Given the description of an element on the screen output the (x, y) to click on. 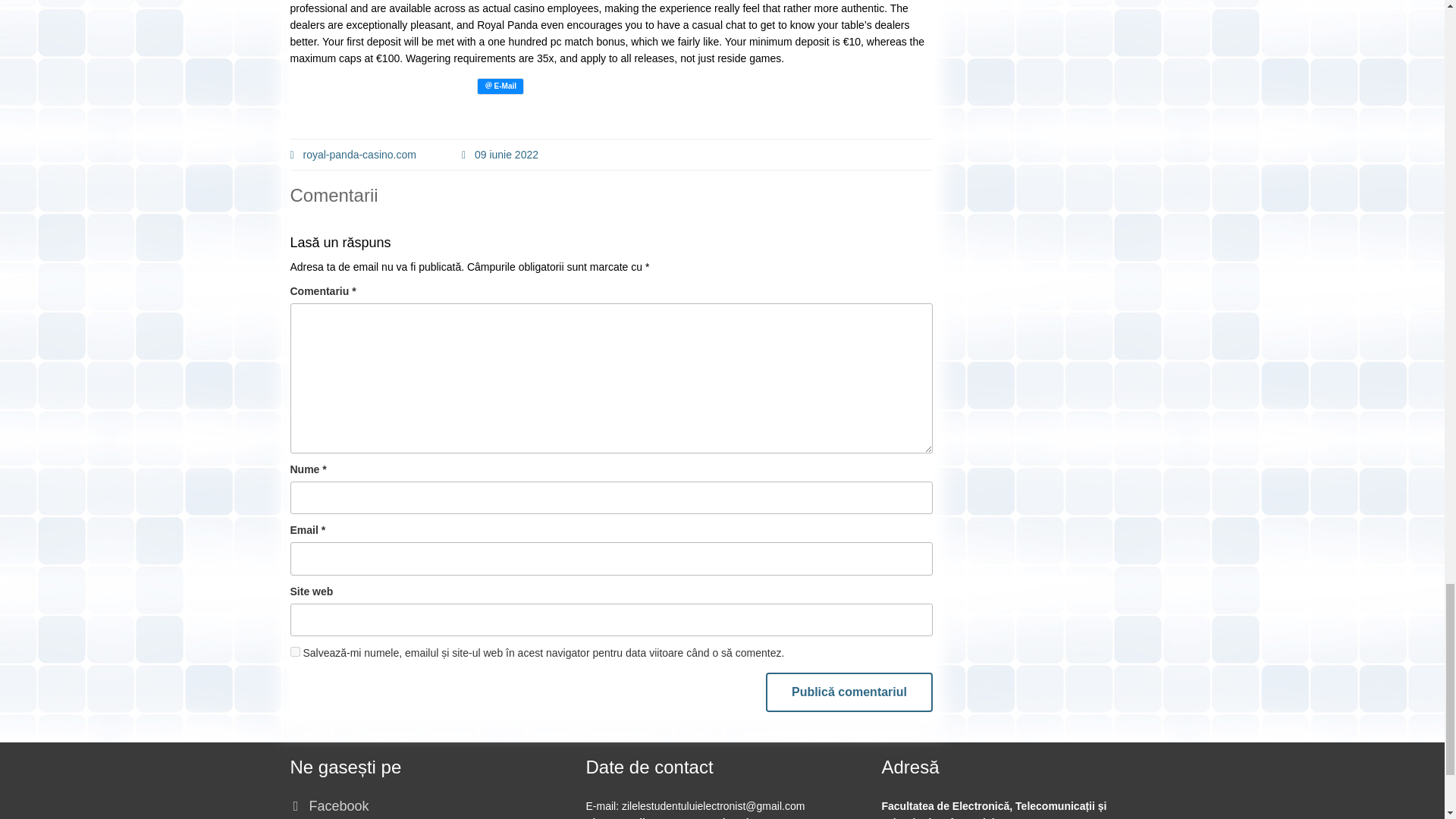
09 iunie 2022 (499, 154)
yes (294, 651)
royal-panda-casino.com (351, 154)
